Given the description of an element on the screen output the (x, y) to click on. 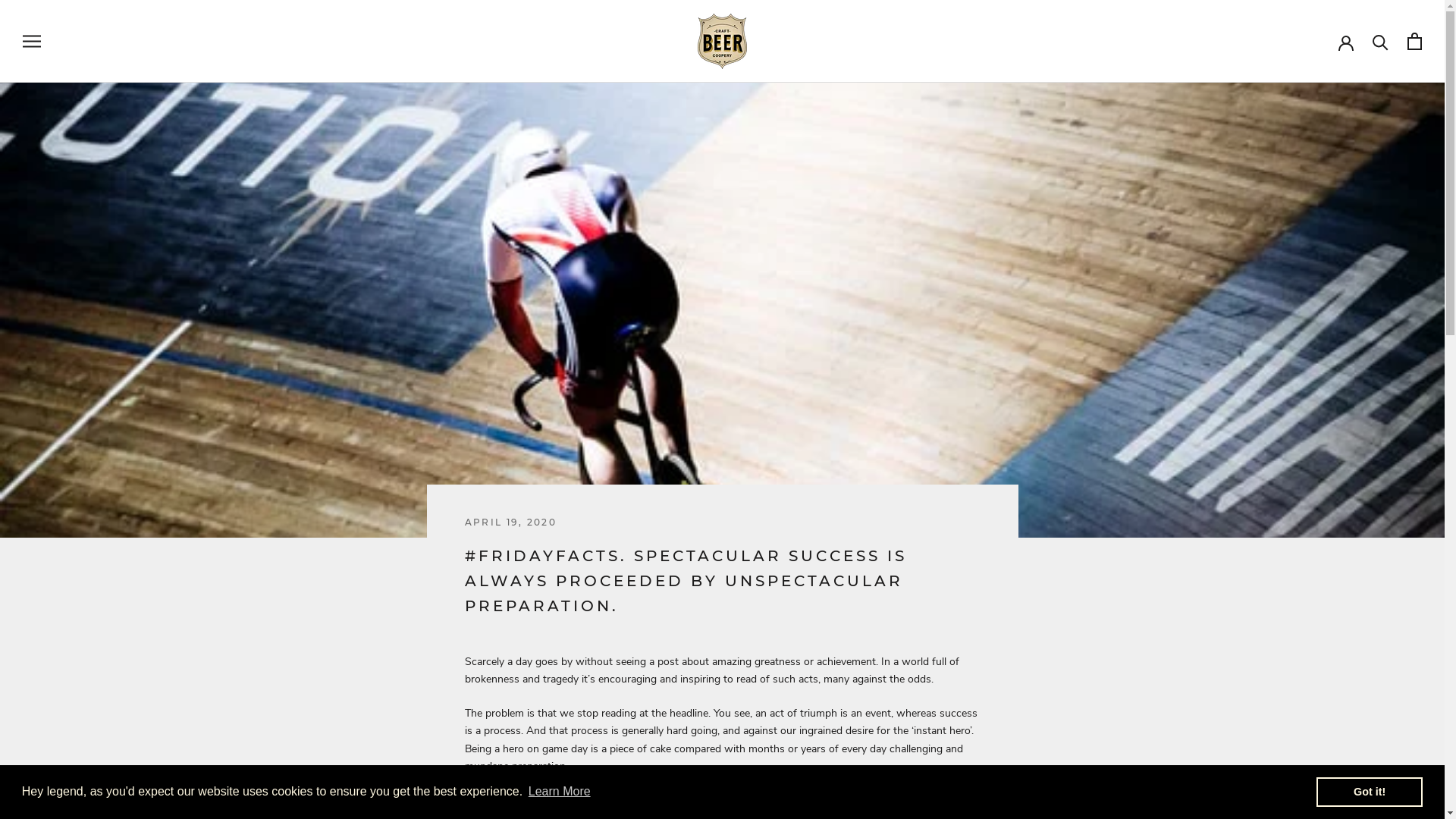
Learn More Element type: text (559, 791)
Got it! Element type: text (1369, 791)
